Given the description of an element on the screen output the (x, y) to click on. 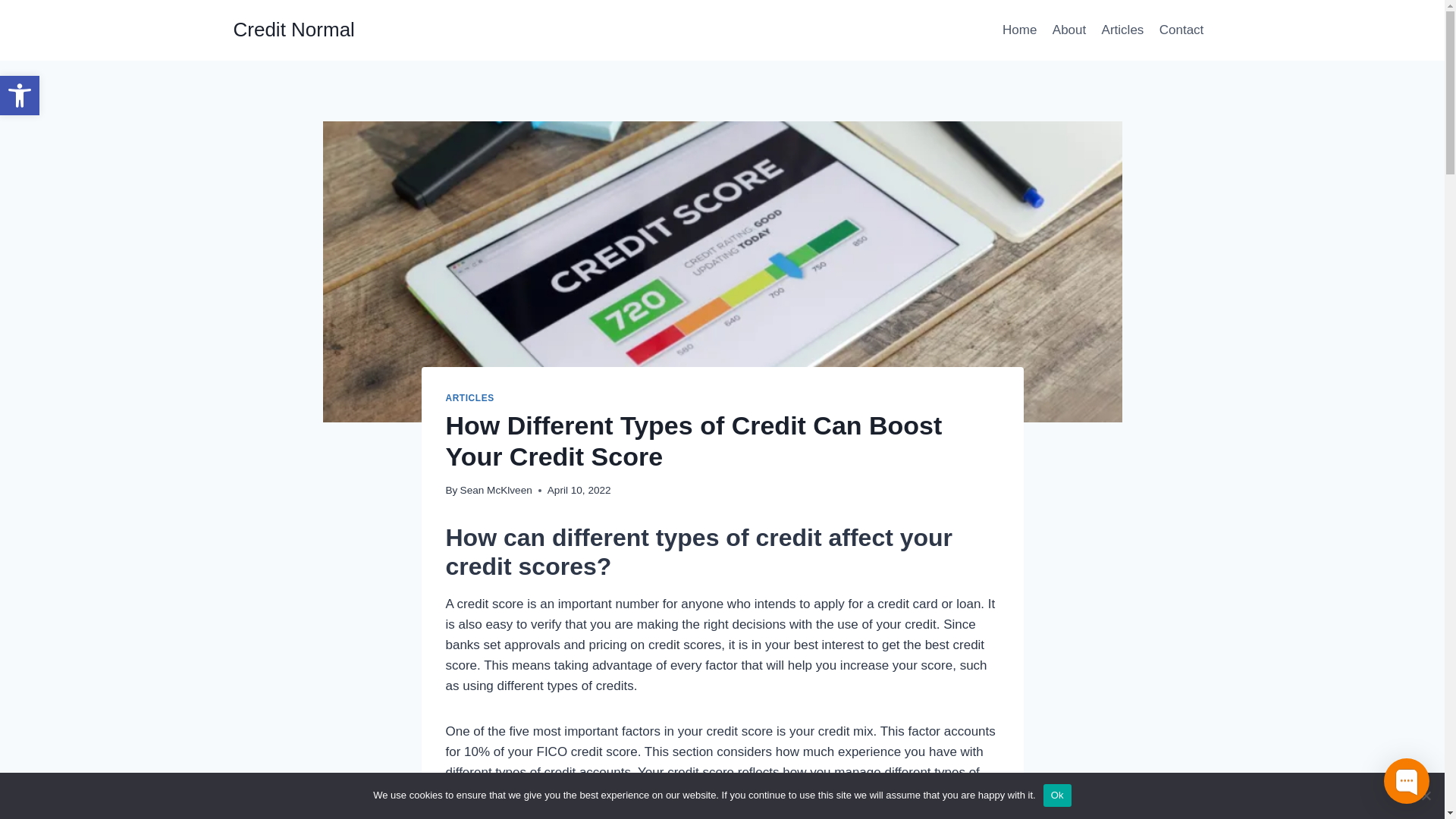
About (1069, 30)
ARTICLES (470, 398)
Accessibility Tools (19, 95)
Home (1019, 30)
Contact (1181, 30)
Sean McKlveen (496, 490)
Credit Normal (19, 95)
Articles (293, 29)
Accessibility Tools (1122, 30)
